Given the description of an element on the screen output the (x, y) to click on. 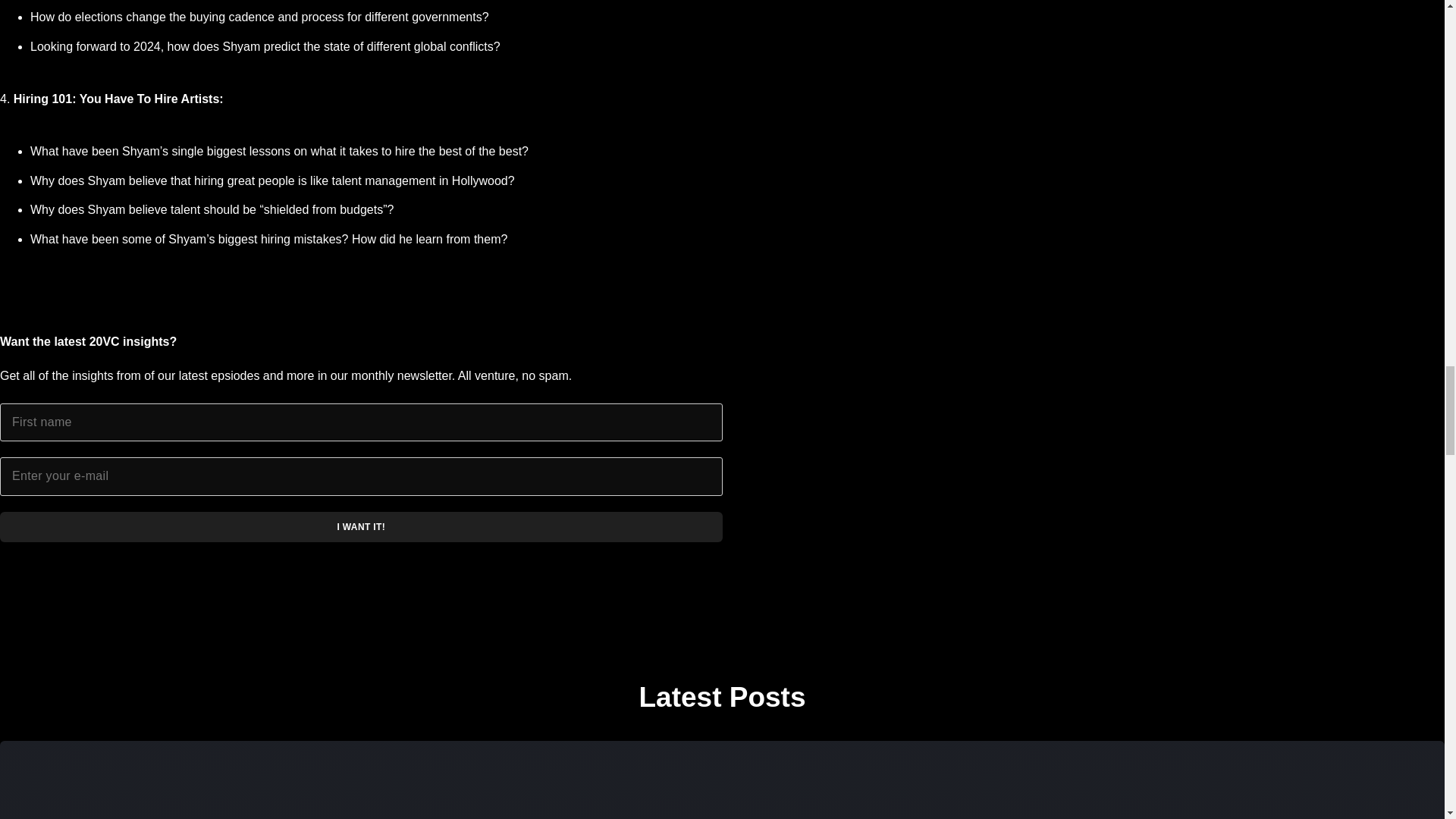
I want it! (361, 526)
I want it! (361, 526)
